Given the description of an element on the screen output the (x, y) to click on. 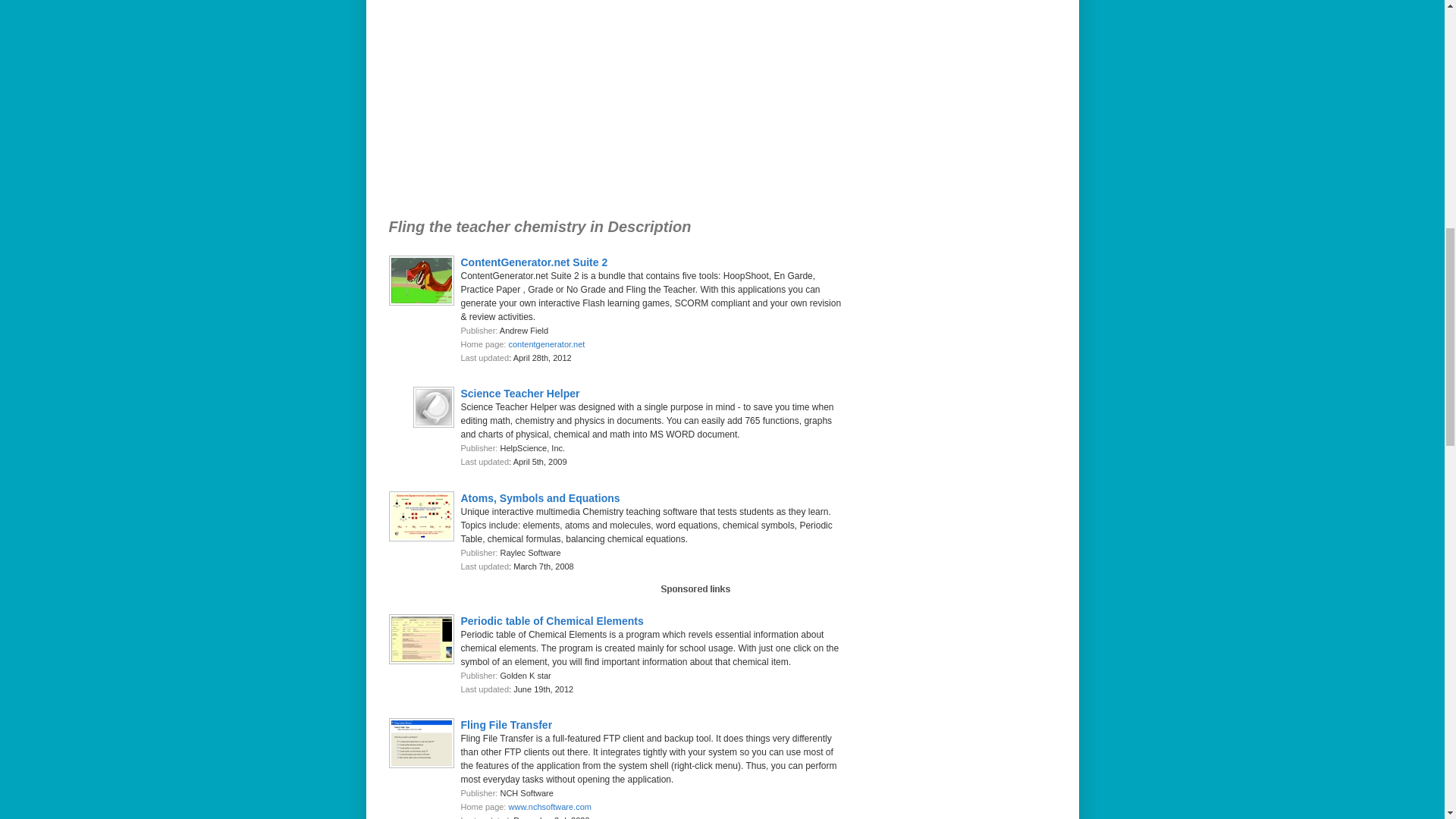
Periodic table of Chemical Elements (552, 620)
Atoms, Symbols and Equations (540, 497)
Fling File Transfer (507, 725)
contentgenerator.net (546, 343)
ContentGenerator.net Suite 2 (534, 262)
Advertisement (593, 104)
Science Teacher Helper (520, 393)
www.nchsoftware.com (549, 806)
